Given the description of an element on the screen output the (x, y) to click on. 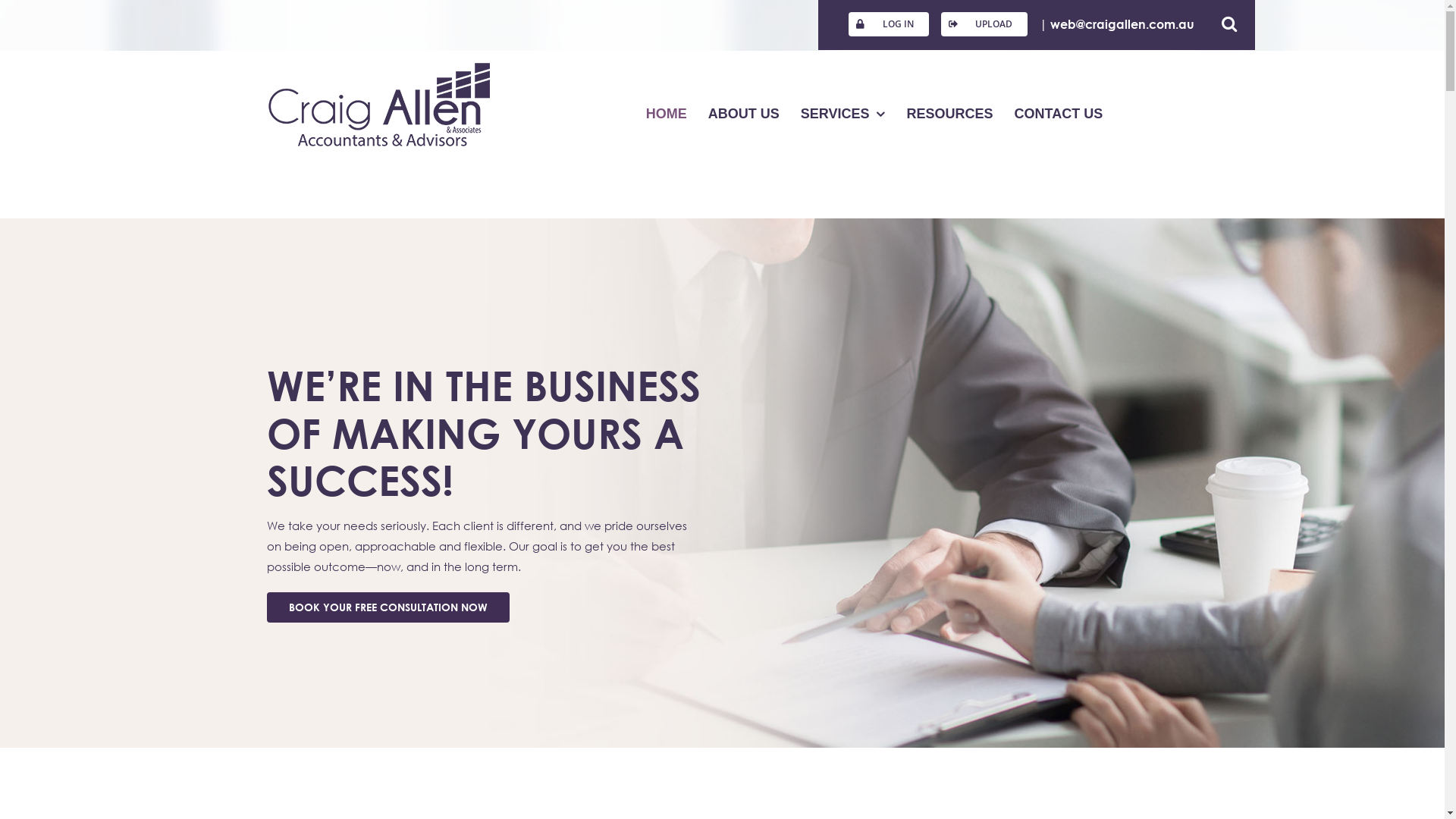
RESOURCES Element type: text (949, 113)
SERVICES Element type: text (842, 113)
HOME Element type: text (666, 113)
| web@craigallen.com.au Element type: text (1124, 24)
UPLOAD Element type: text (984, 24)
CONTACT US Element type: text (1058, 113)
BOOK YOUR FREE CONSULTATION NOW Element type: text (387, 607)
Search Element type: hover (1236, 24)
ABOUT US Element type: text (743, 113)
LOG IN Element type: text (888, 24)
